Given the description of an element on the screen output the (x, y) to click on. 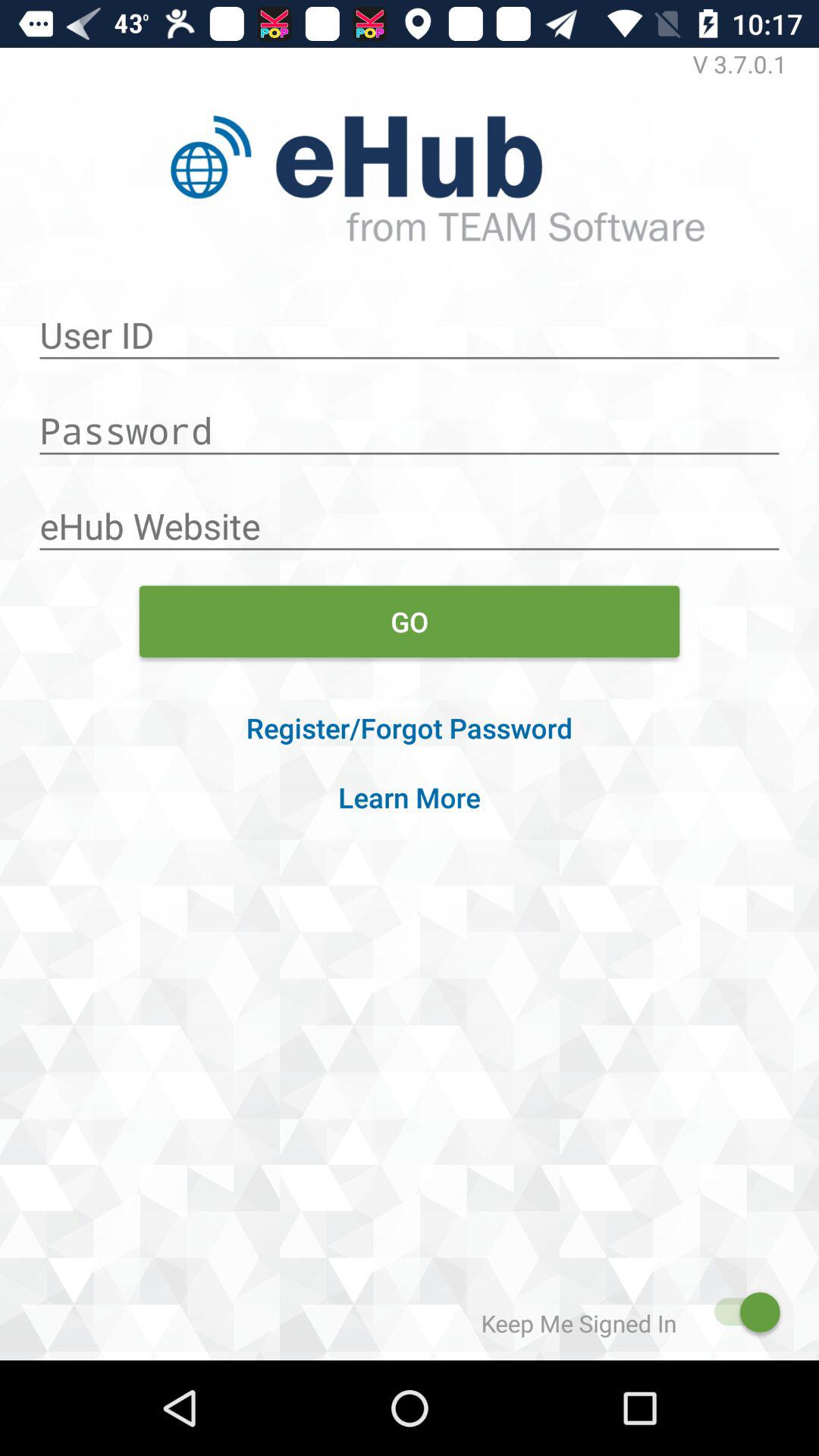
user id option (409, 326)
